Given the description of an element on the screen output the (x, y) to click on. 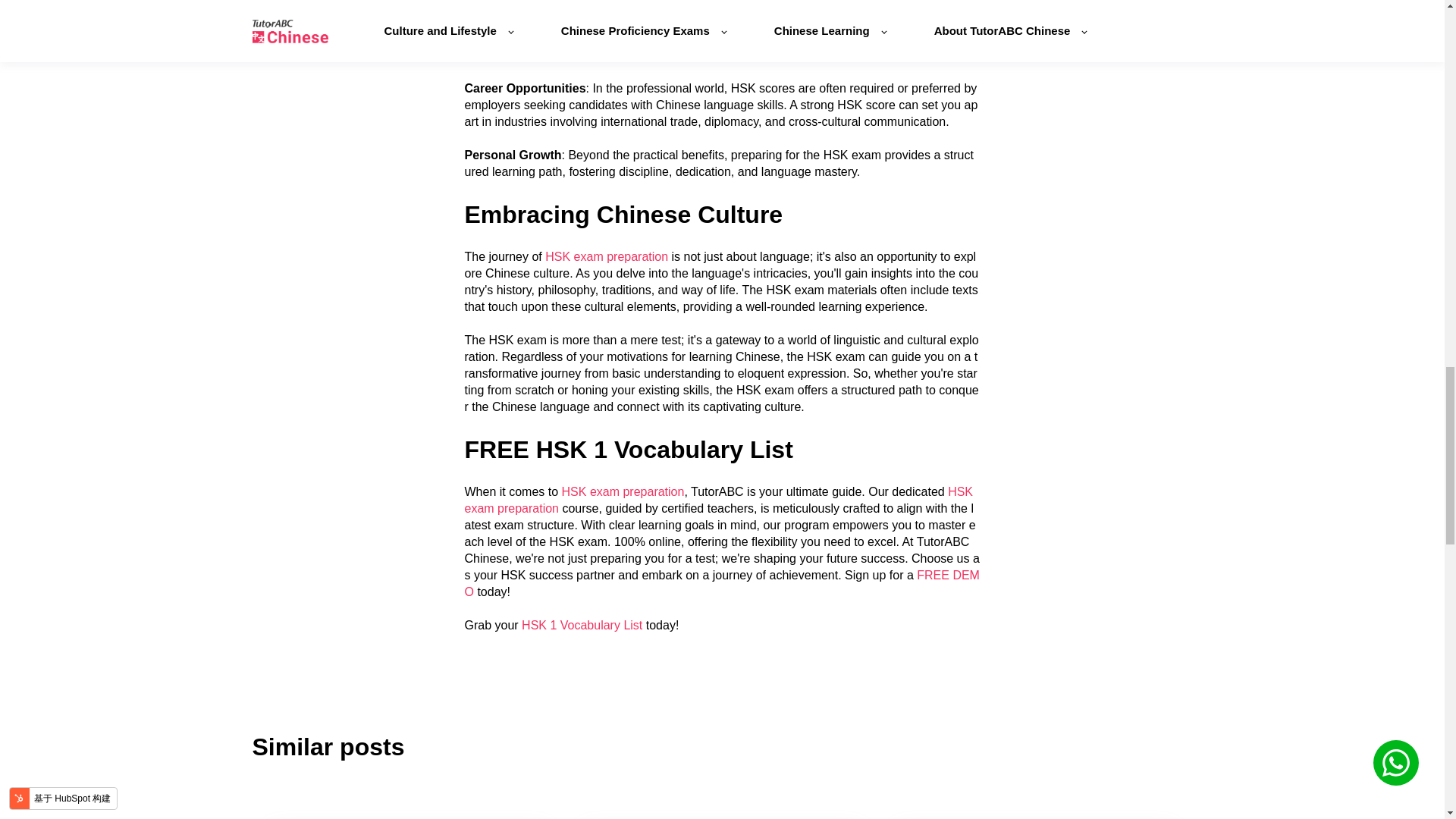
HSK exam preparation (623, 491)
FREE DEMO (721, 583)
HSK 1 Vocabulary List (581, 625)
HSK exam preparation (606, 256)
HSK exam preparation (718, 500)
